Given the description of an element on the screen output the (x, y) to click on. 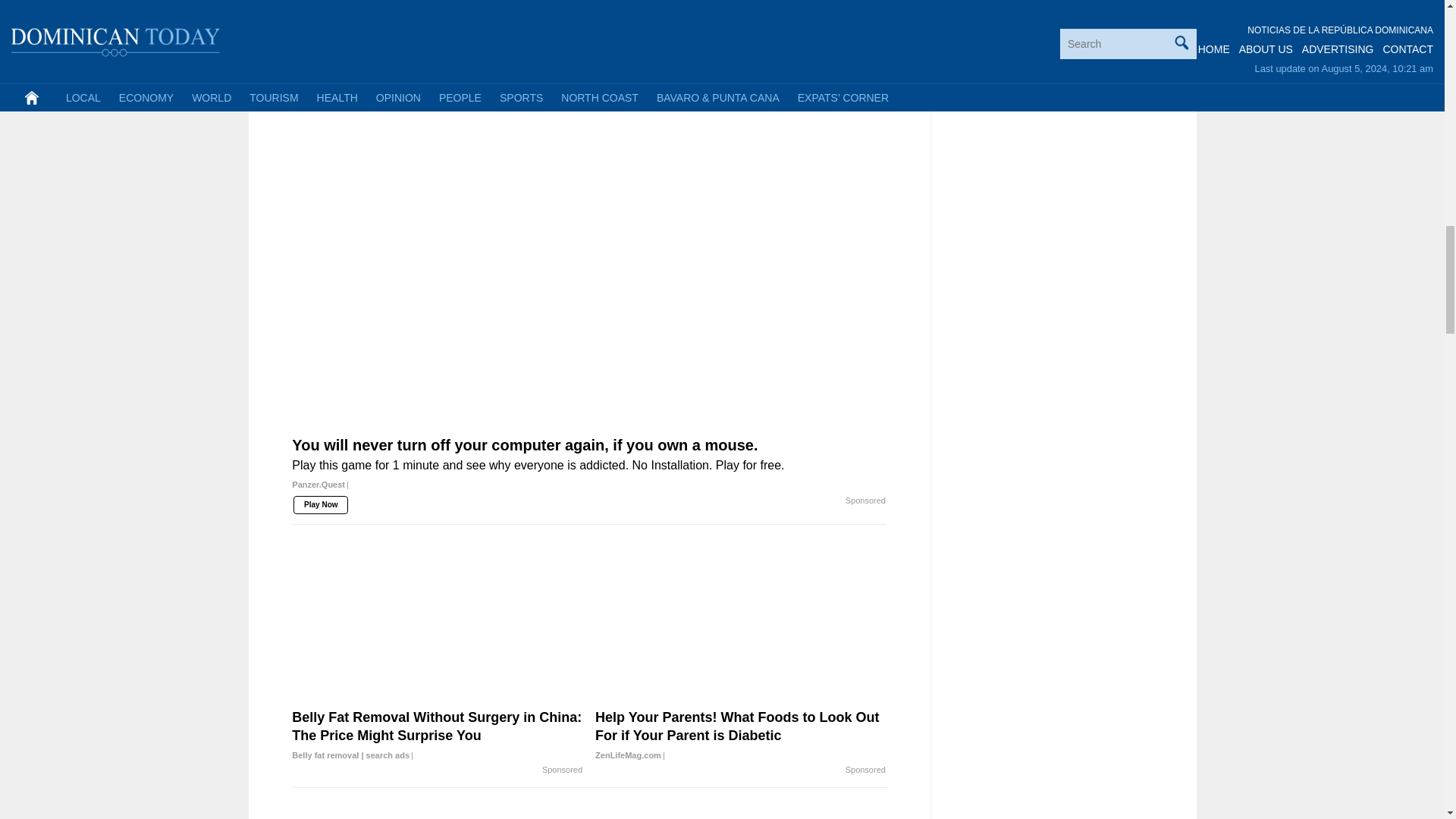
Play Now (365, 2)
If you own a mouse, you have to play this game. (667, 3)
